Given the description of an element on the screen output the (x, y) to click on. 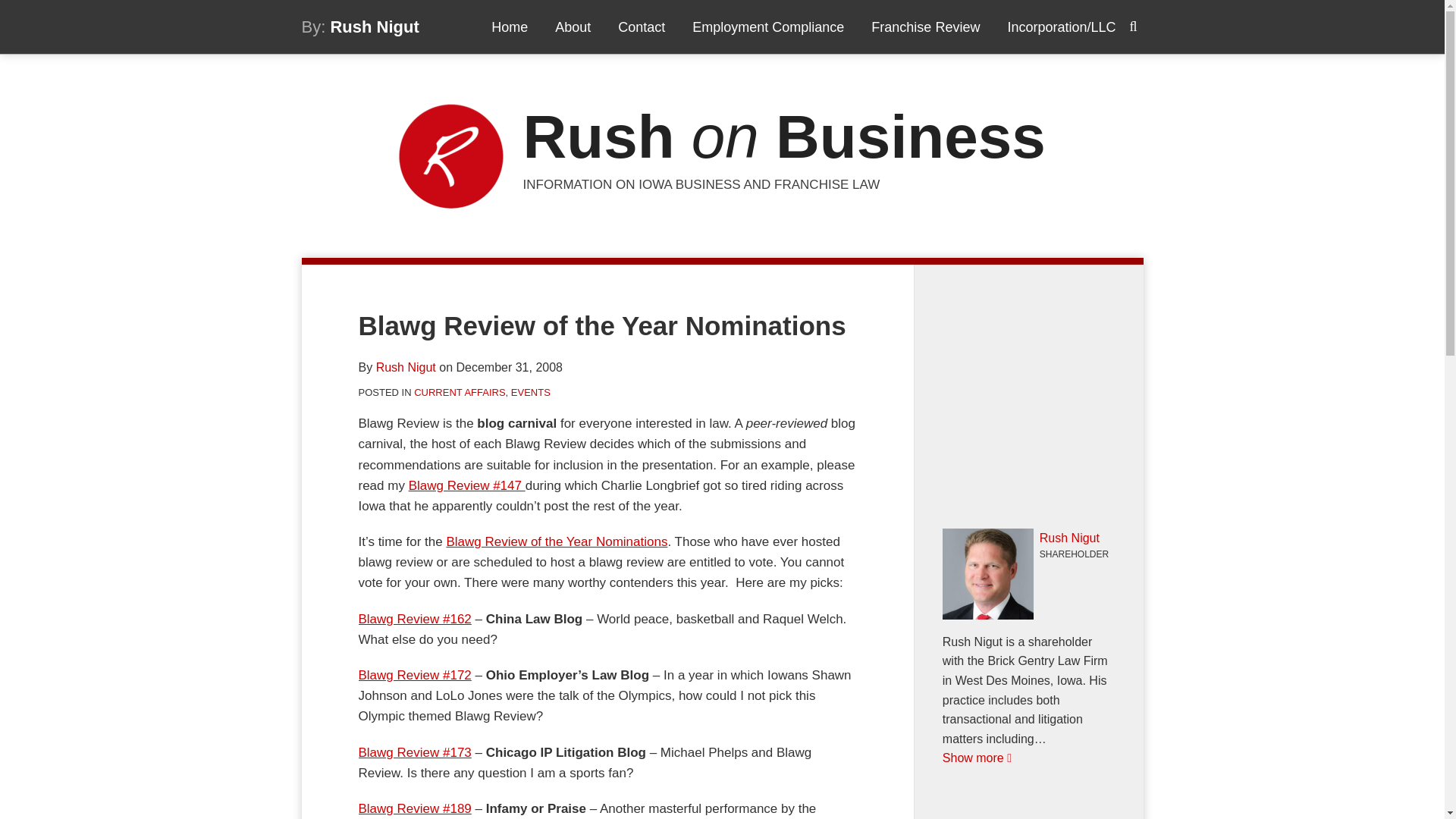
EVENTS (530, 392)
Rush on Business (783, 136)
Contact (641, 27)
About (572, 27)
Franchise Review (924, 27)
Home (509, 27)
CURRENT AFFAIRS (459, 392)
Blawg Review of the Year Nominations (555, 541)
Employment Compliance (768, 27)
Rush Nigut (374, 26)
Rush Nigut (405, 367)
